Given the description of an element on the screen output the (x, y) to click on. 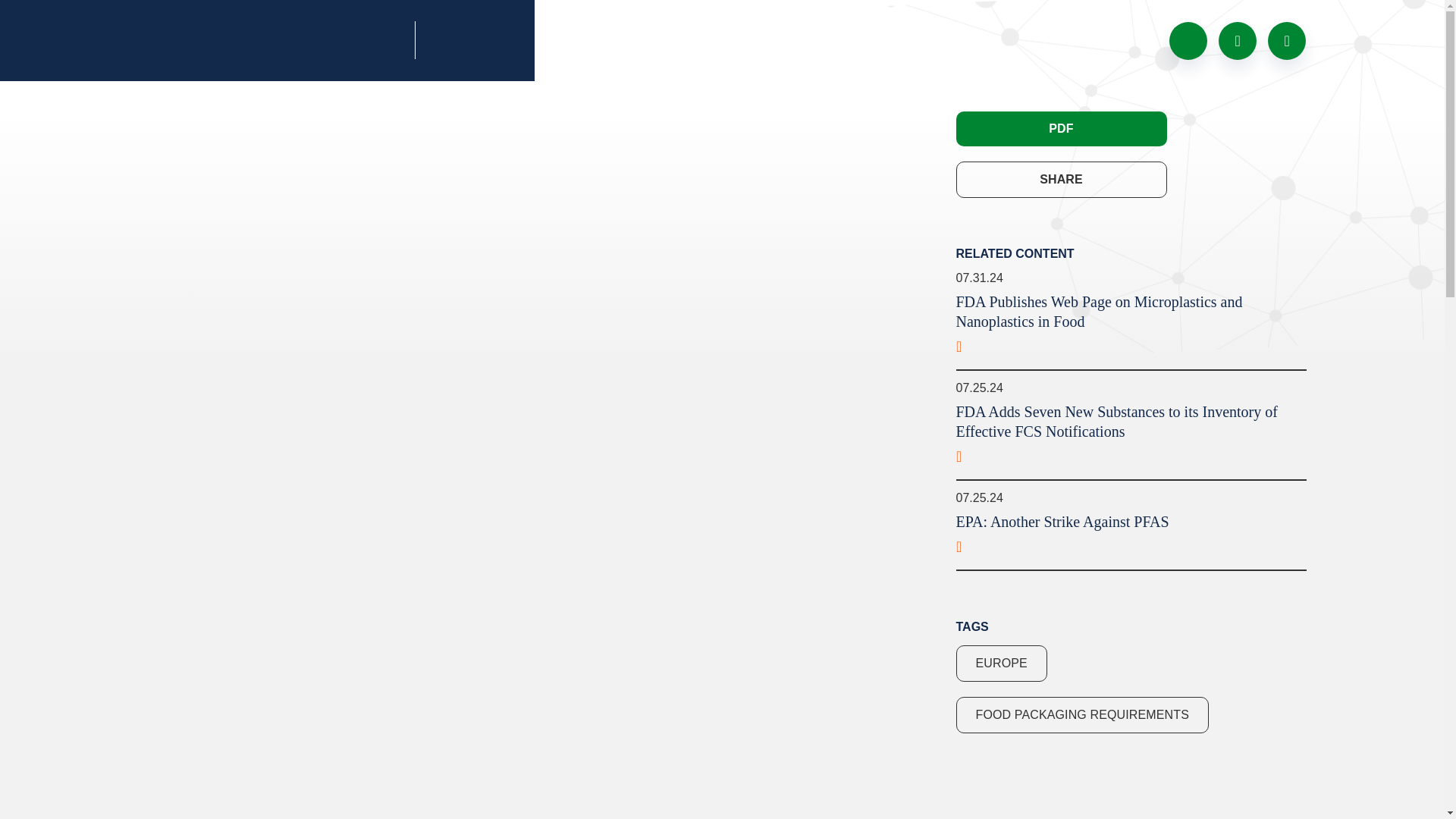
PDF (1060, 128)
FOOD PACKAGING REQUIREMENTS (1081, 714)
EPA: Another Strike Against PFAS (1130, 537)
EUROPE (1000, 663)
Menu (1287, 39)
Packaging Law (271, 40)
Podcast (1188, 39)
SHARE (1060, 179)
Keller and Heckman (501, 39)
Search (1237, 39)
